Given the description of an element on the screen output the (x, y) to click on. 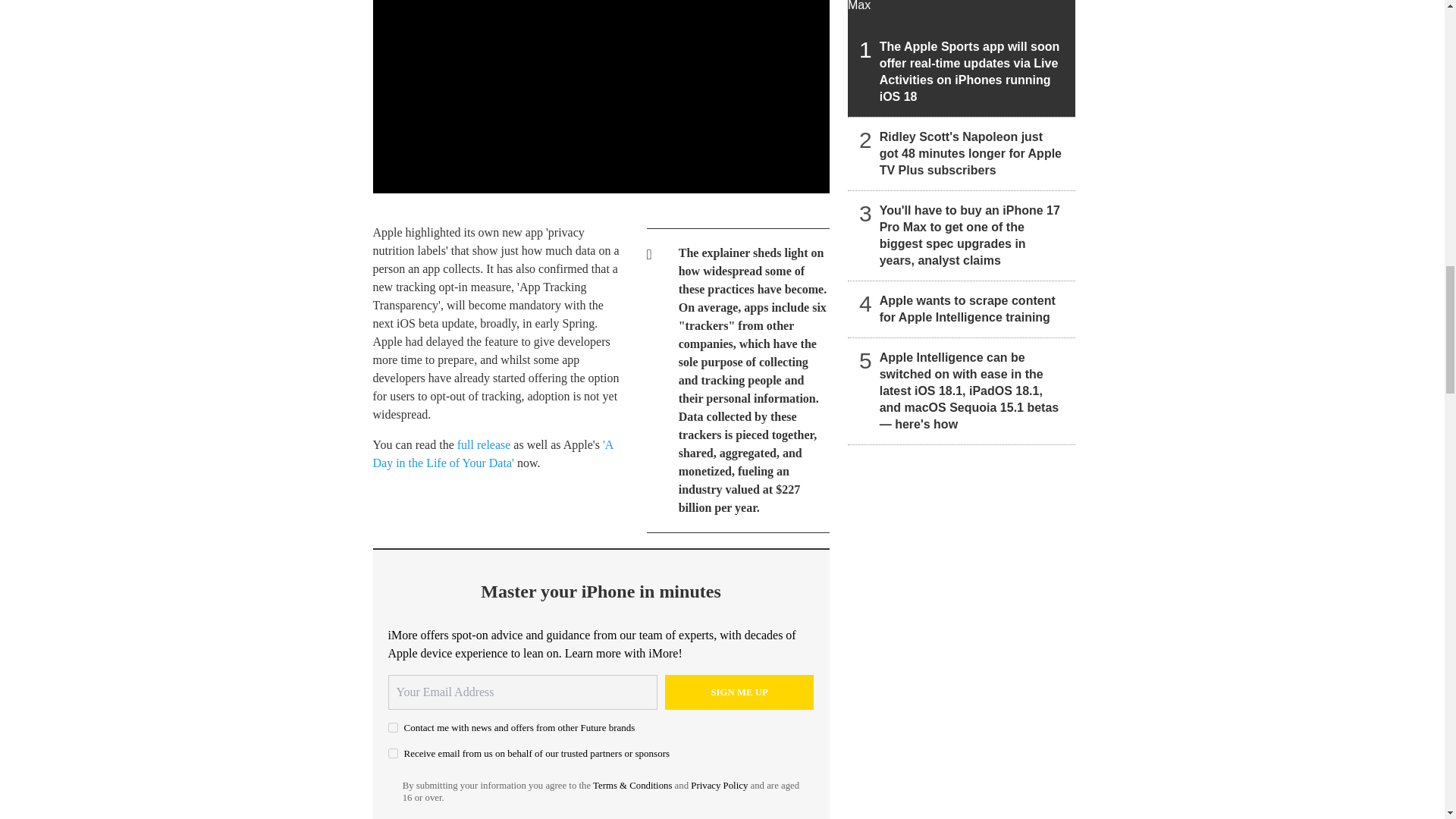
Sign me up (739, 692)
on (392, 753)
on (392, 727)
